Given the description of an element on the screen output the (x, y) to click on. 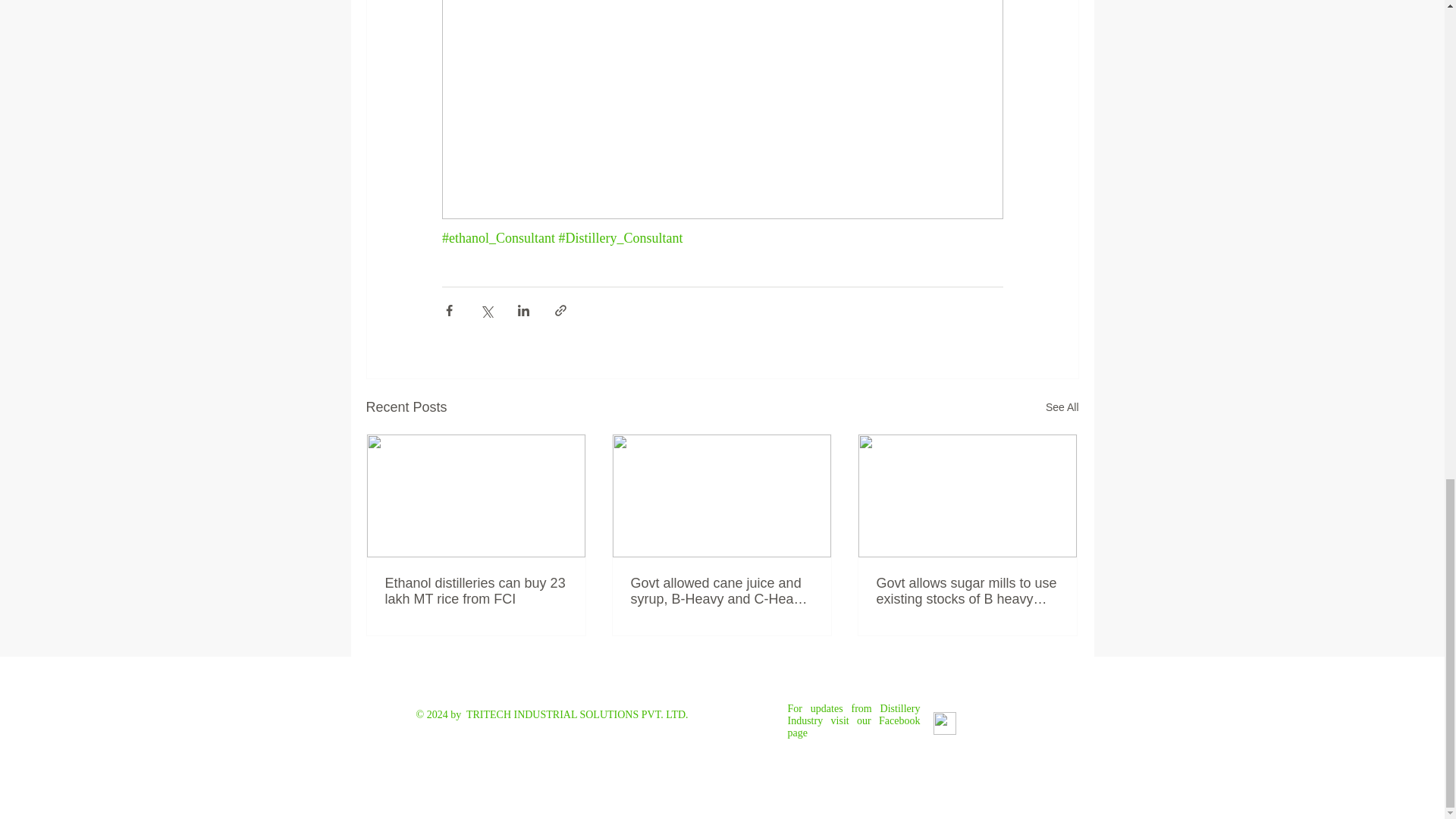
See All (1061, 407)
Ethanol distilleries can buy 23 lakh MT rice from FCI (476, 591)
